Given the description of an element on the screen output the (x, y) to click on. 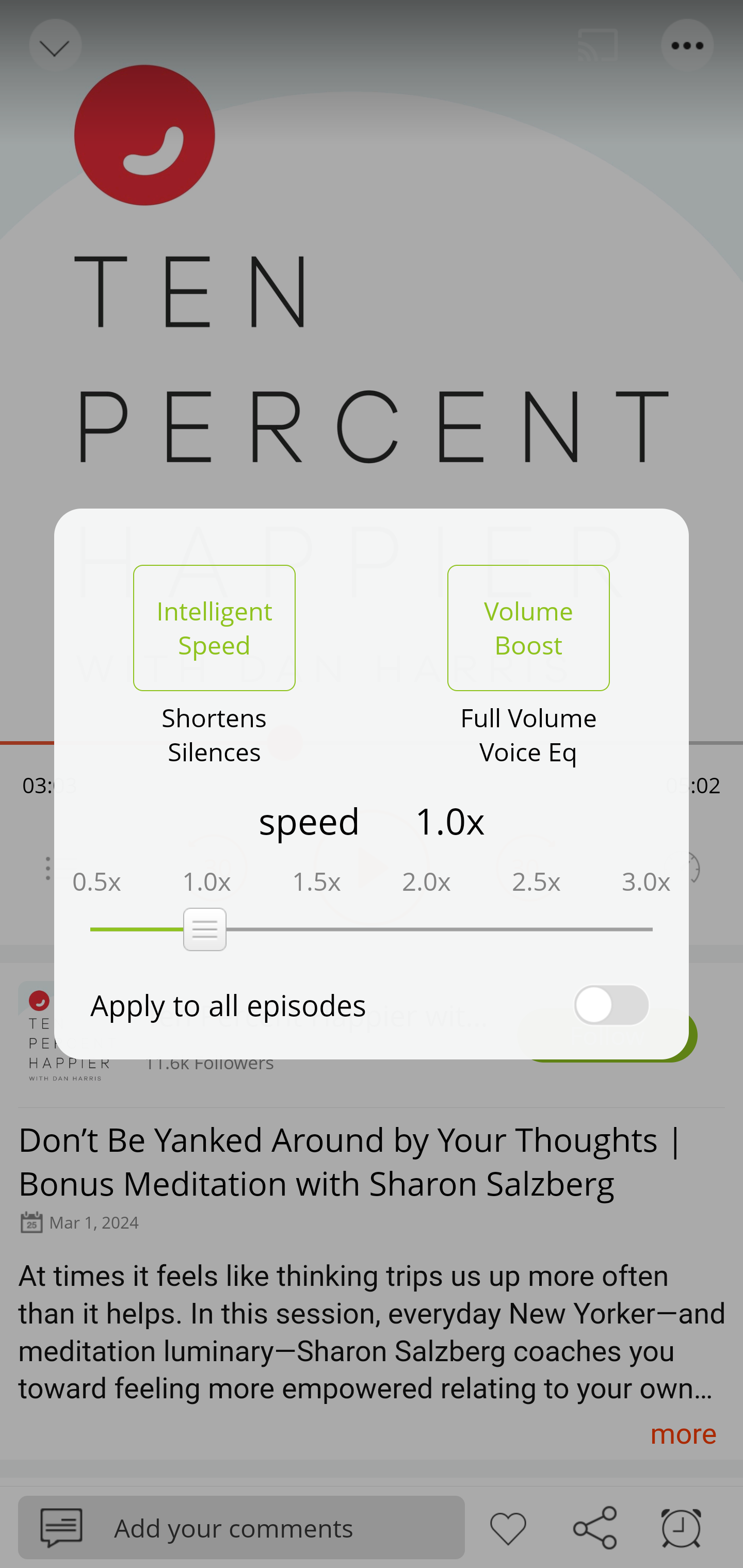
Intelligent
Speed (213, 627)
Volume
Boost (528, 627)
